Given the description of an element on the screen output the (x, y) to click on. 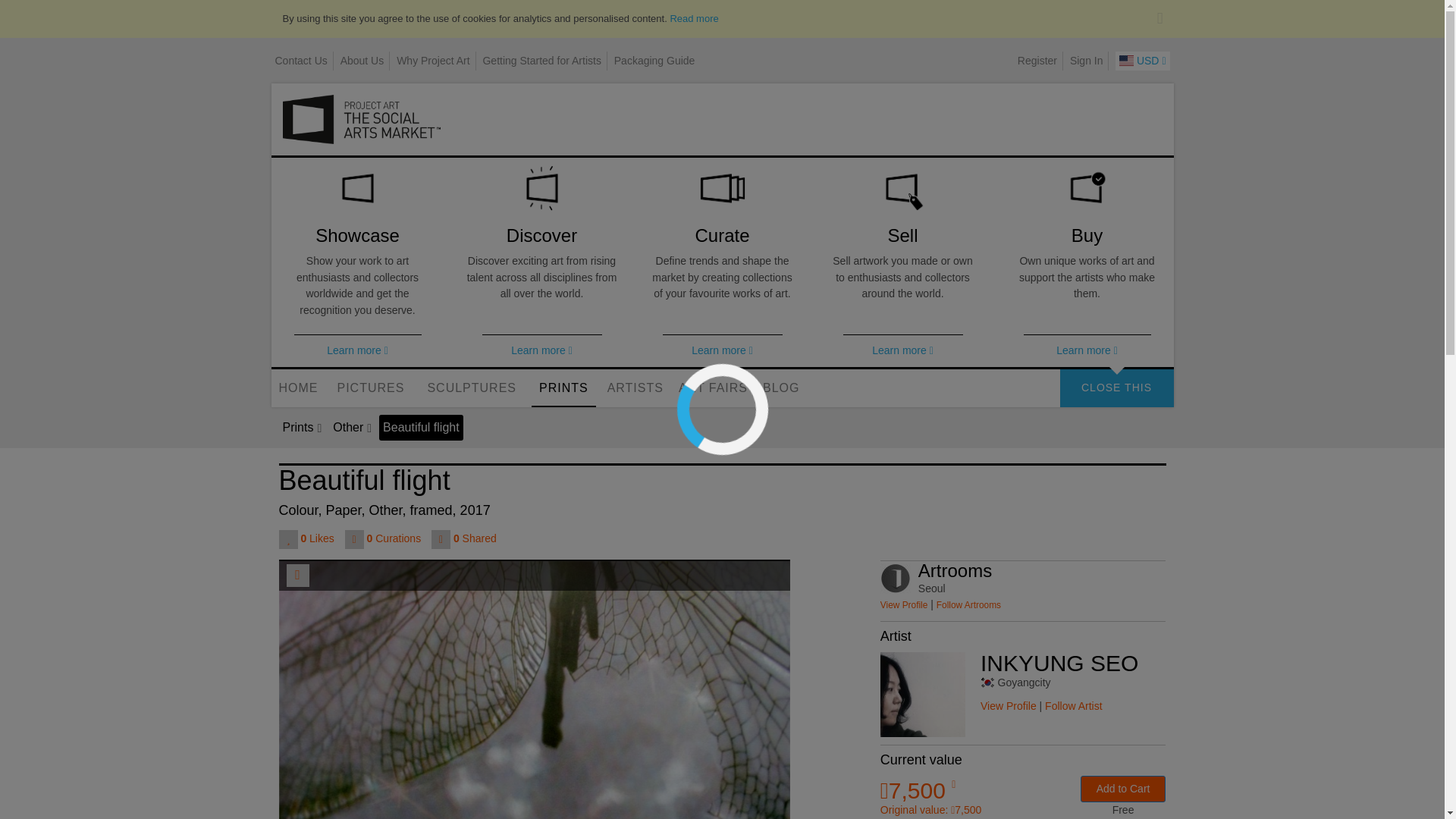
About Us (362, 60)
Like this? Vote it up (290, 538)
PRINTS (563, 388)
Contact Us (300, 60)
SCULPTURES (471, 388)
PICTURES (370, 388)
Packaging Guide (654, 60)
HOME (298, 388)
Follow the artist (968, 604)
Getting Started for Artists (540, 60)
USD (1142, 60)
Curate this (355, 538)
